Given the description of an element on the screen output the (x, y) to click on. 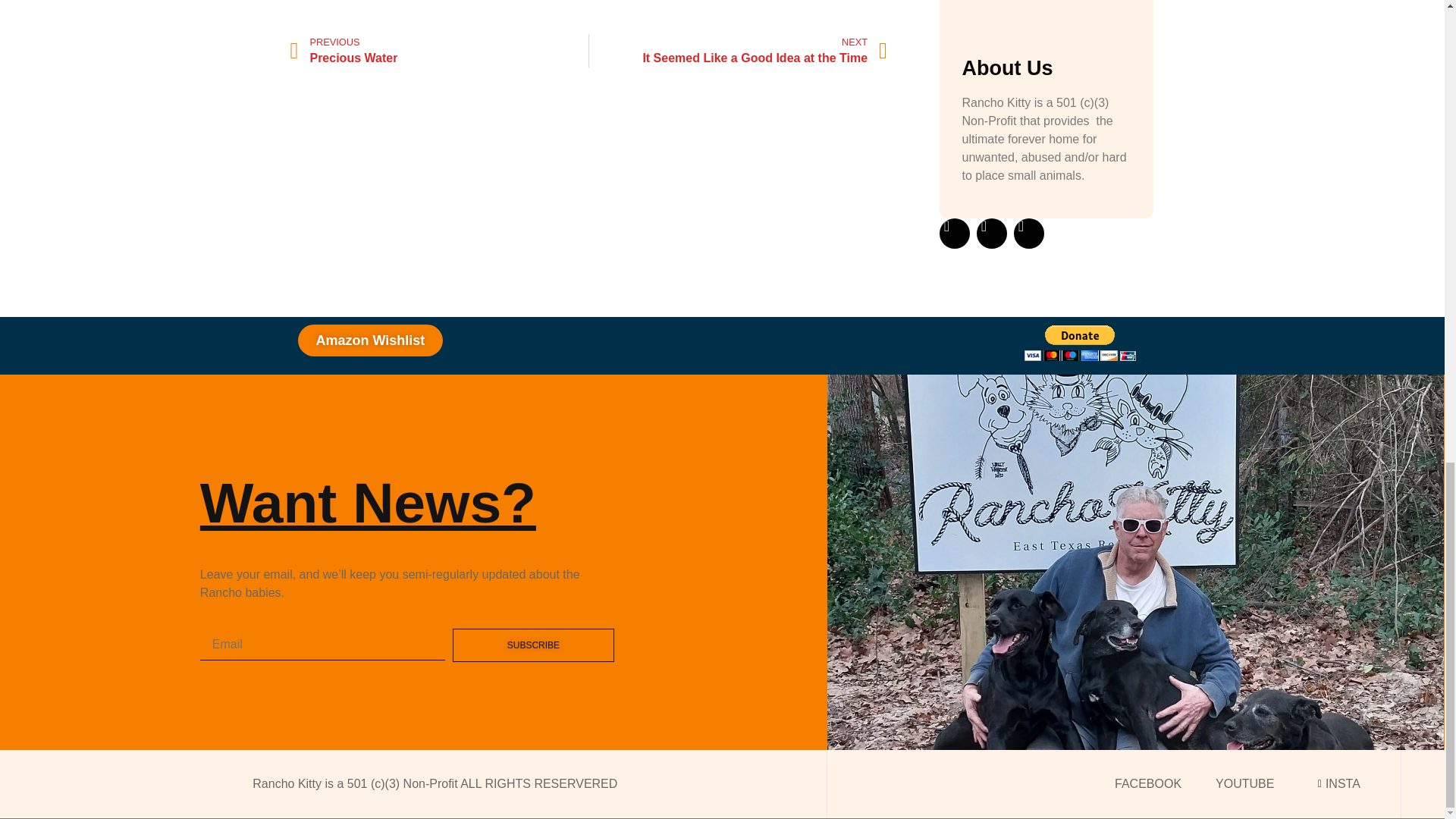
PayPal - The safer, easier way to pay online! (438, 50)
Meeting the Babies Hop Along (737, 50)
